Given the description of an element on the screen output the (x, y) to click on. 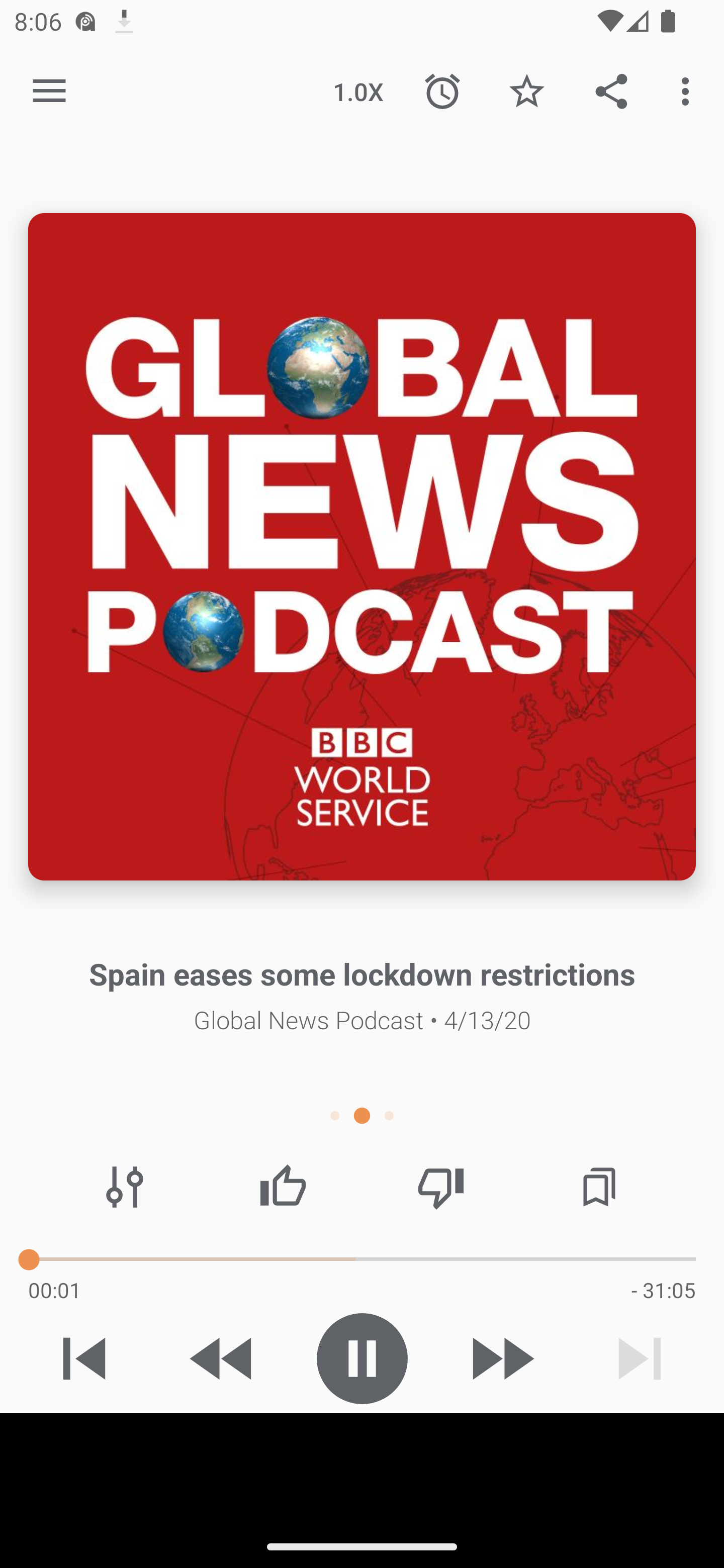
Open navigation sidebar (49, 91)
1.0X (357, 90)
Sleep Timer (442, 90)
Favorite (526, 90)
Share (611, 90)
More options (688, 90)
Episode description (361, 547)
Audio effects (124, 1186)
Thumbs up (283, 1186)
Thumbs down (440, 1186)
Chapters / Bookmarks (598, 1186)
- 31:05 (663, 1289)
Previous track (84, 1358)
Skip 15s backward (222, 1358)
Play / Pause (362, 1358)
Skip 30s forward (500, 1358)
Next track (639, 1358)
